Given the description of an element on the screen output the (x, y) to click on. 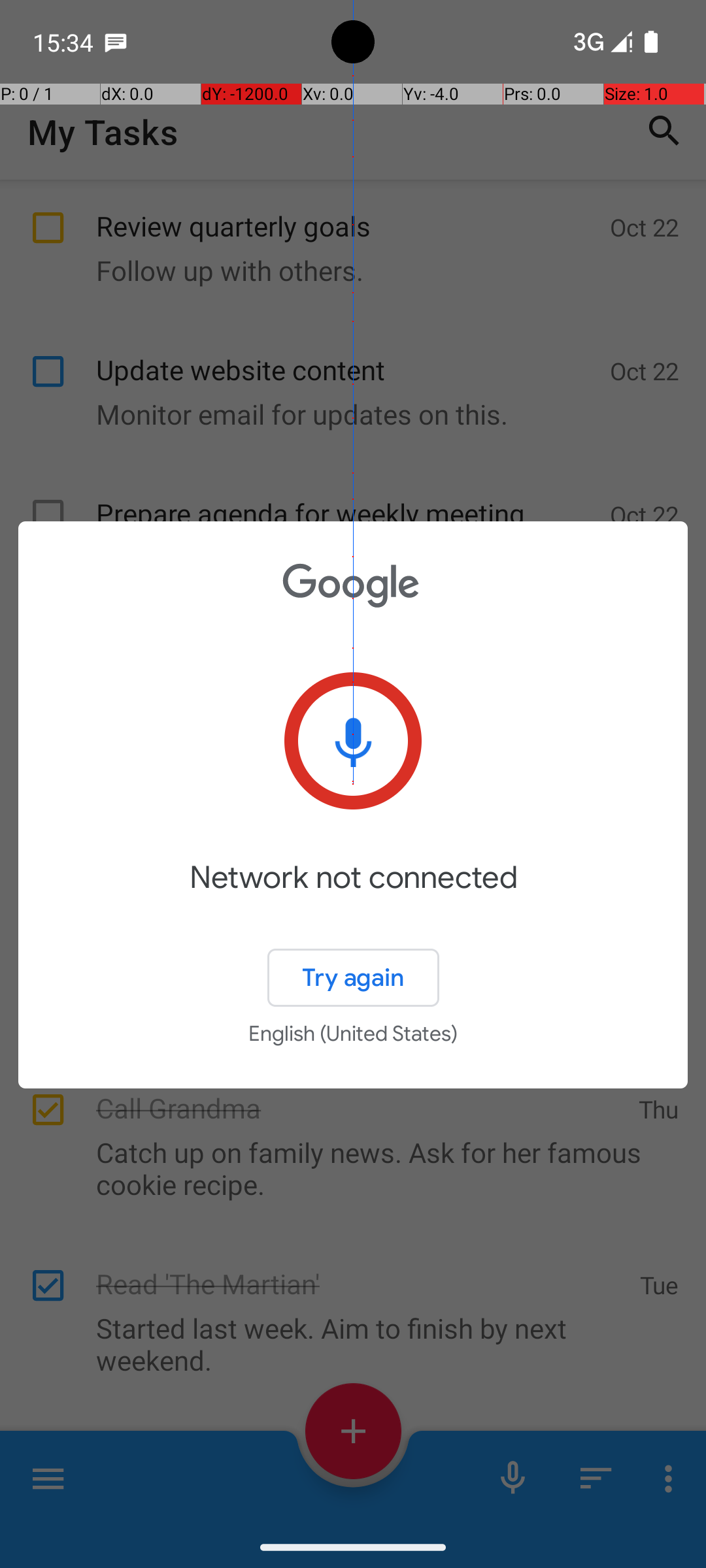
Network not connected Element type: android.widget.TextView (352, 895)
Try again Element type: android.widget.Button (353, 977)
